Given the description of an element on the screen output the (x, y) to click on. 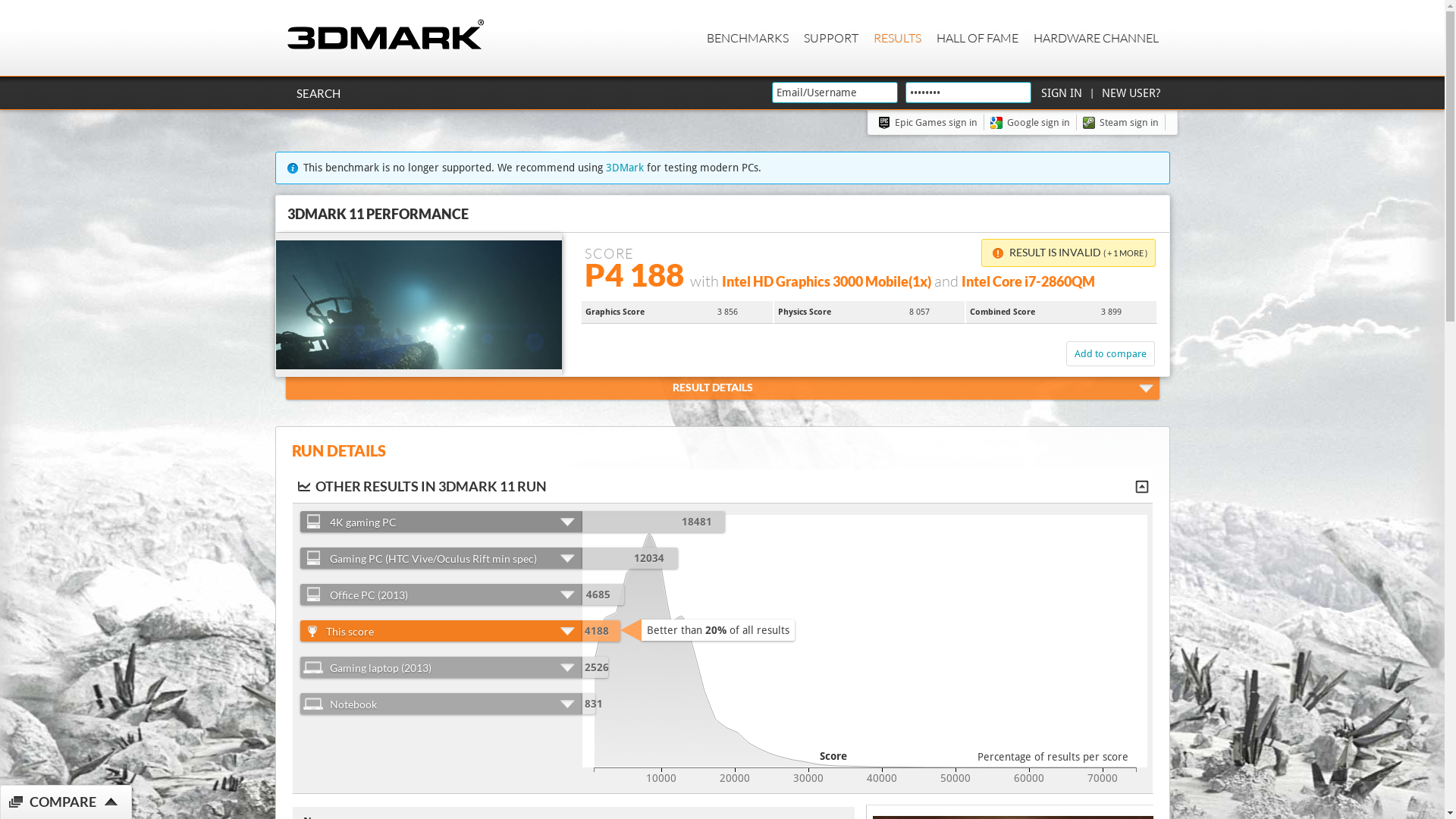
3DMark Element type: text (624, 167)
Google sign in Element type: text (1033, 122)
Steam sign in Element type: text (1123, 122)
3dMark.com Element type: hover (384, 34)
Epic Games sign in Element type: text (931, 122)
SUPPORT Element type: text (831, 37)
RESULTS Element type: text (897, 37)
OTHER RESULTS IN 3DMARK 11 RUN Element type: text (723, 485)
HARDWARE CHANNEL Element type: text (1095, 37)
New User? Element type: text (1130, 92)
Add to compare Element type: text (1110, 353)
Password Element type: text (968, 92)
Sign in Element type: text (1060, 92)
BENCHMARKS Element type: text (747, 37)
HALL OF FAME Element type: text (976, 37)
SEARCH Element type: text (317, 92)
